Given the description of an element on the screen output the (x, y) to click on. 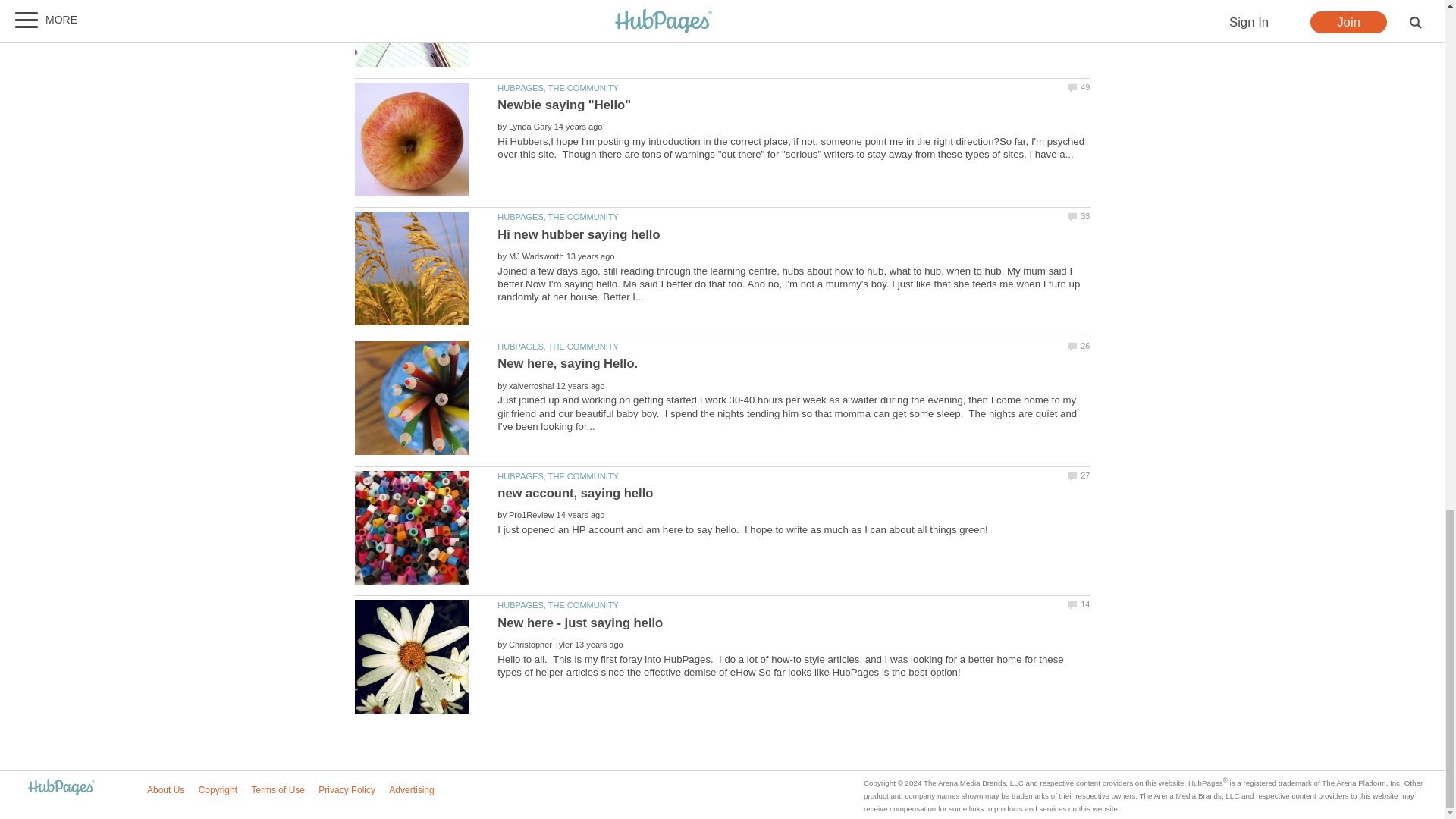
To the HubPages home page (60, 787)
